Given the description of an element on the screen output the (x, y) to click on. 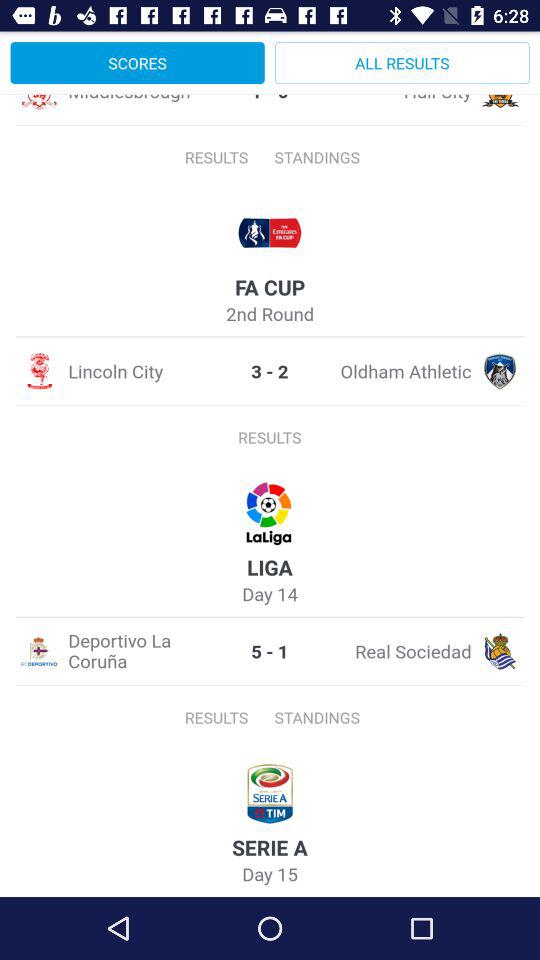
click the item next to the scores item (402, 62)
